Given the description of an element on the screen output the (x, y) to click on. 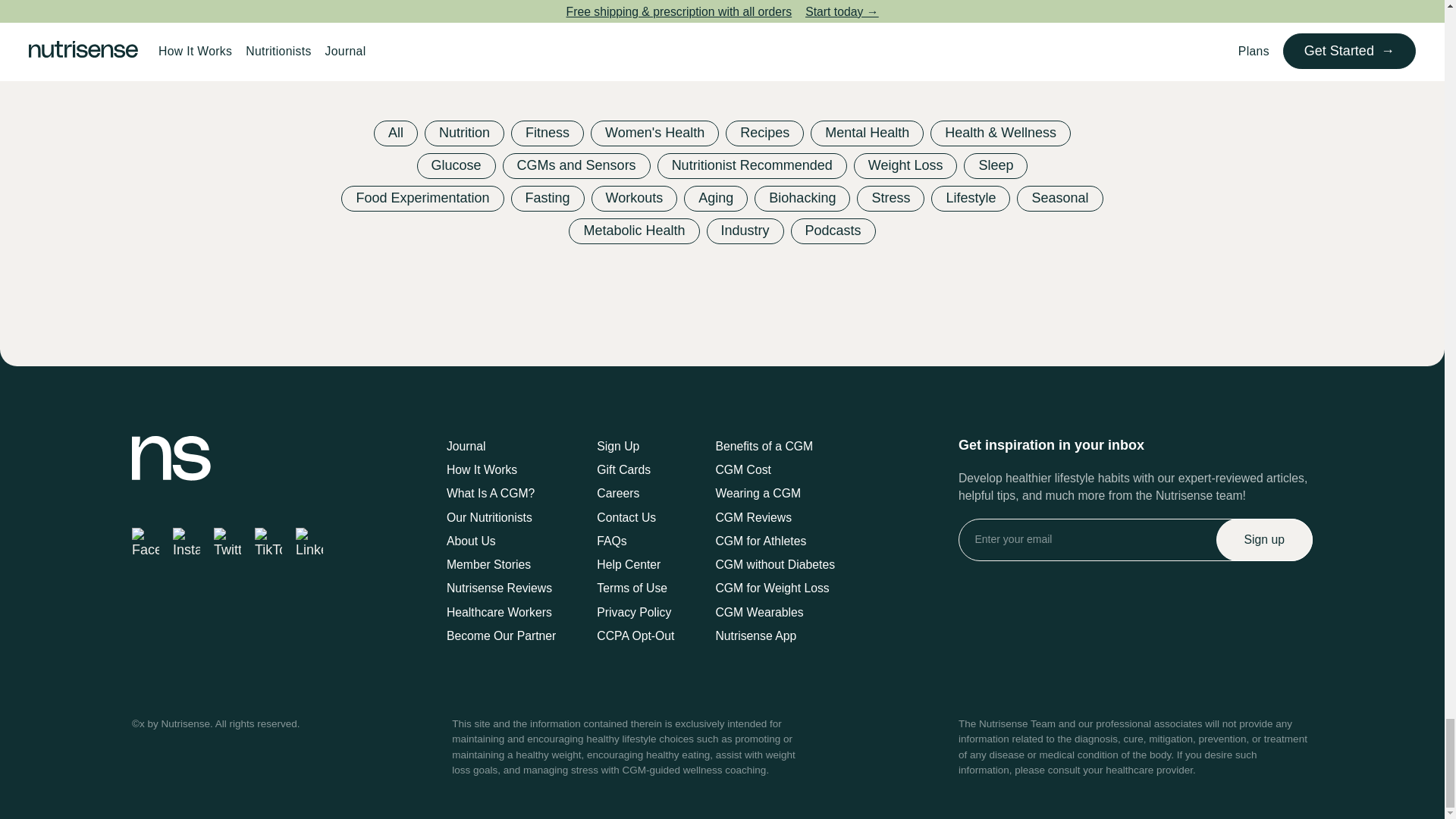
Sign up (1264, 539)
